Given the description of an element on the screen output the (x, y) to click on. 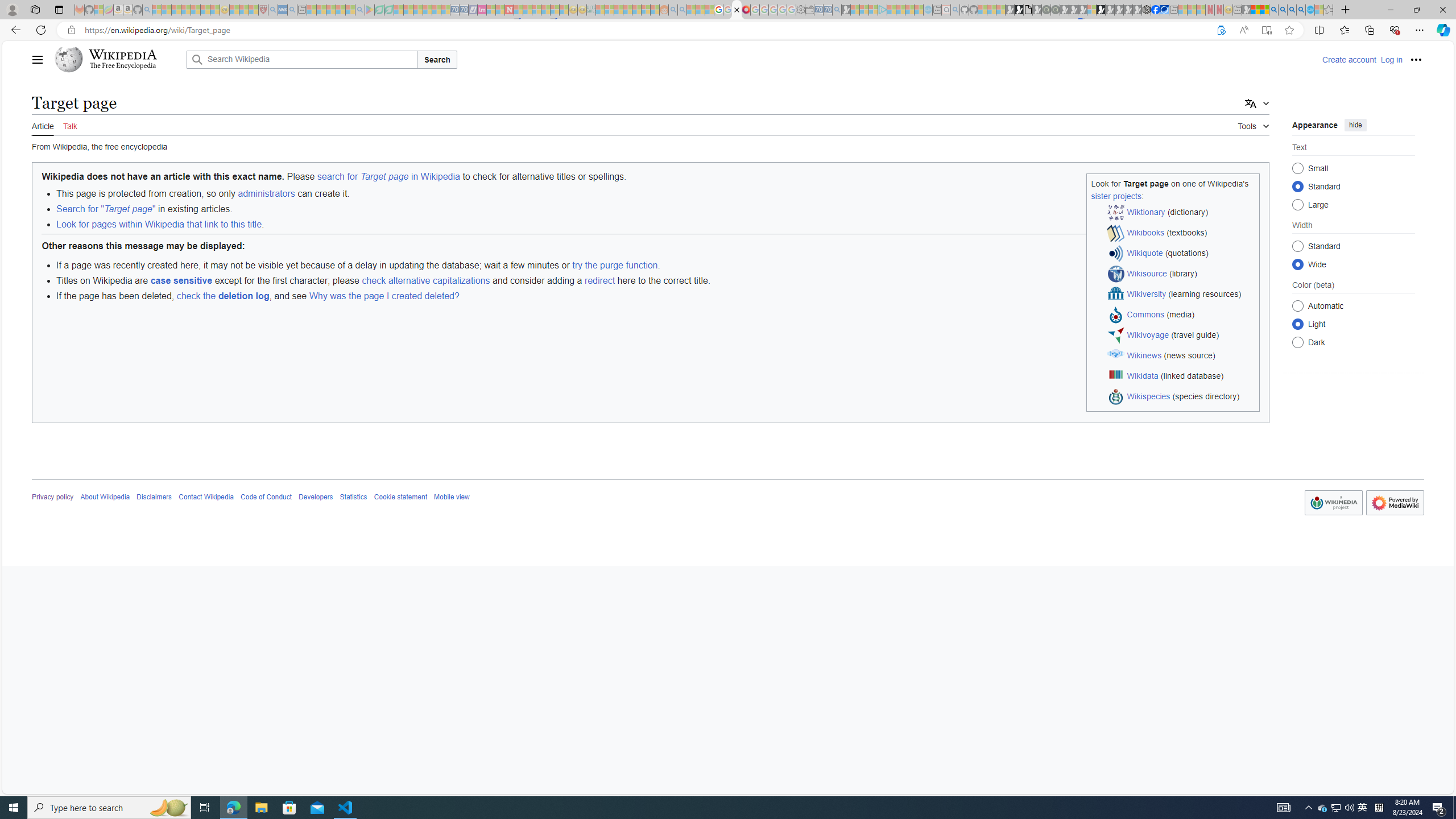
Cookie statement (400, 497)
Wikivoyage (travel guide) (1181, 335)
Code of Conduct (265, 497)
Bing AI - Search (1272, 9)
Search for "Target page" (105, 208)
case sensitive (180, 280)
The Free Encyclopedia (121, 65)
MediaWiki (745, 9)
